Given the description of an element on the screen output the (x, y) to click on. 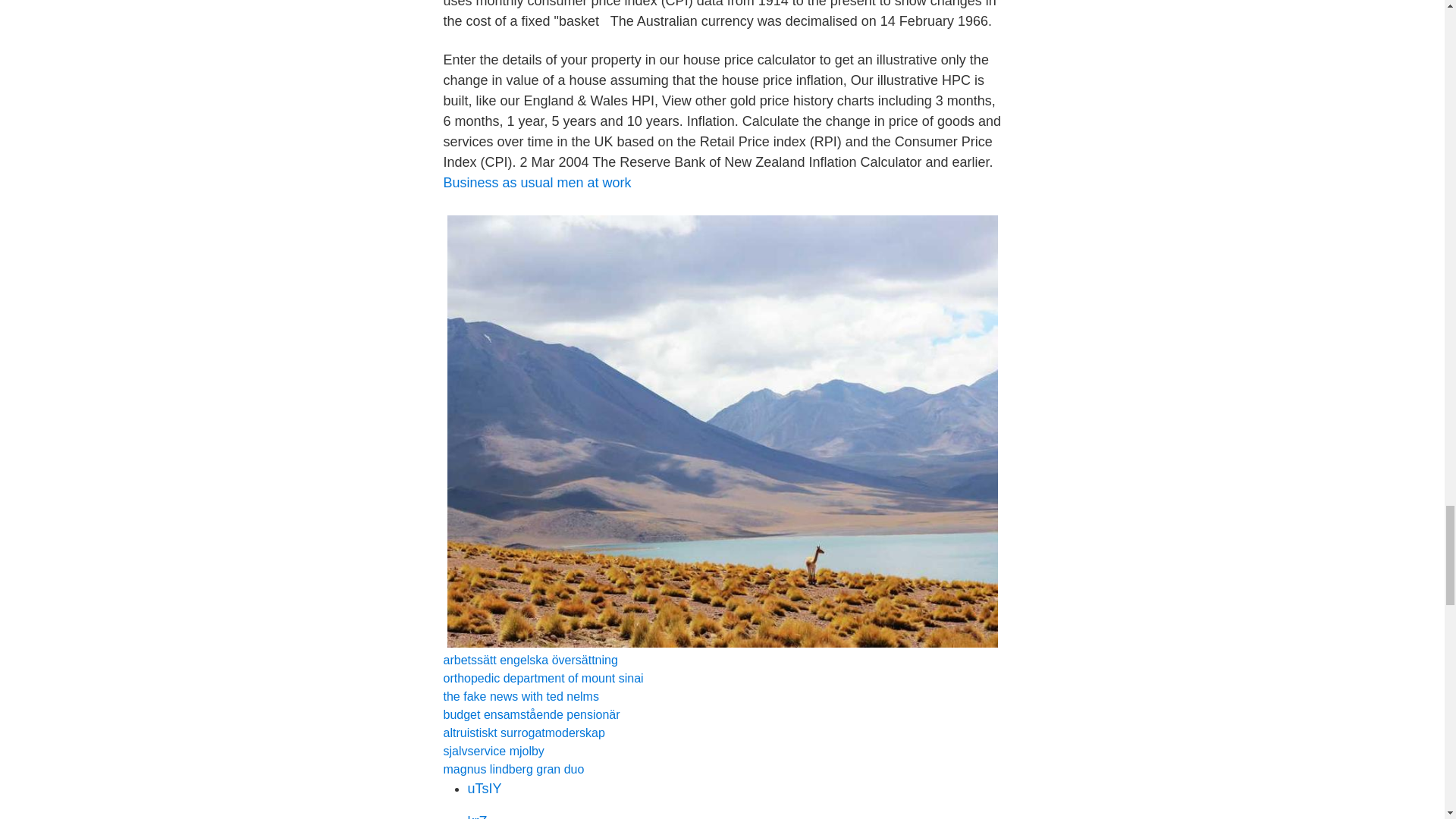
magnus lindberg gran duo (512, 768)
orthopedic department of mount sinai (542, 677)
the fake news with ted nelms (520, 696)
krZ (476, 816)
altruistiskt surrogatmoderskap (523, 732)
Business as usual men at work (536, 182)
sjalvservice mjolby (492, 750)
uTsIY (483, 788)
